Given the description of an element on the screen output the (x, y) to click on. 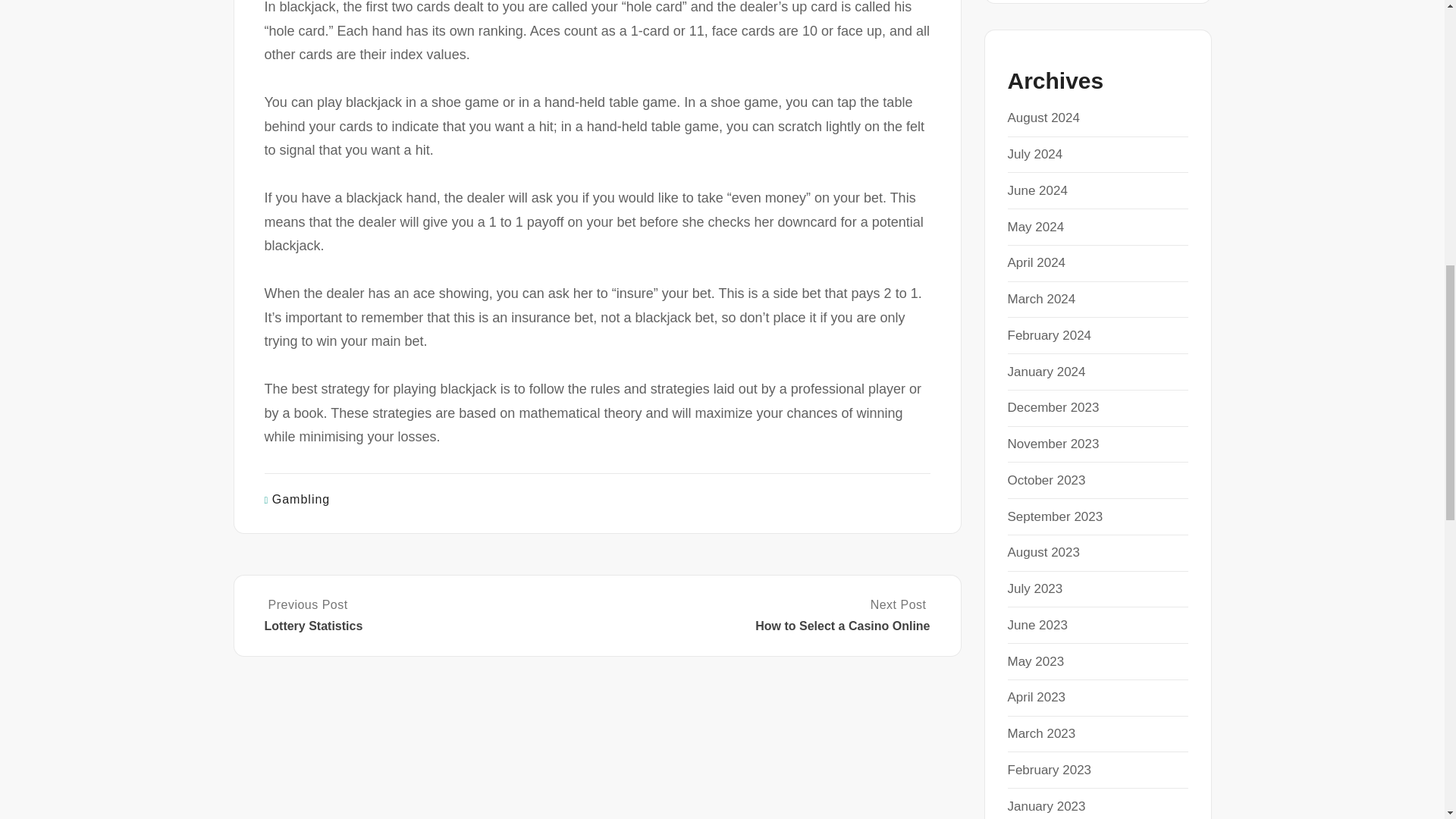
January 2024 (1045, 371)
July 2023 (1034, 588)
August 2024 (1042, 117)
June 2023 (1037, 625)
August 2023 (1042, 552)
October 2023 (1045, 480)
December 2023 (1053, 407)
April 2024 (1036, 262)
February 2024 (1048, 335)
May 2023 (1035, 661)
May 2024 (1035, 227)
March 2024 (1041, 298)
Gambling (301, 499)
